Given the description of an element on the screen output the (x, y) to click on. 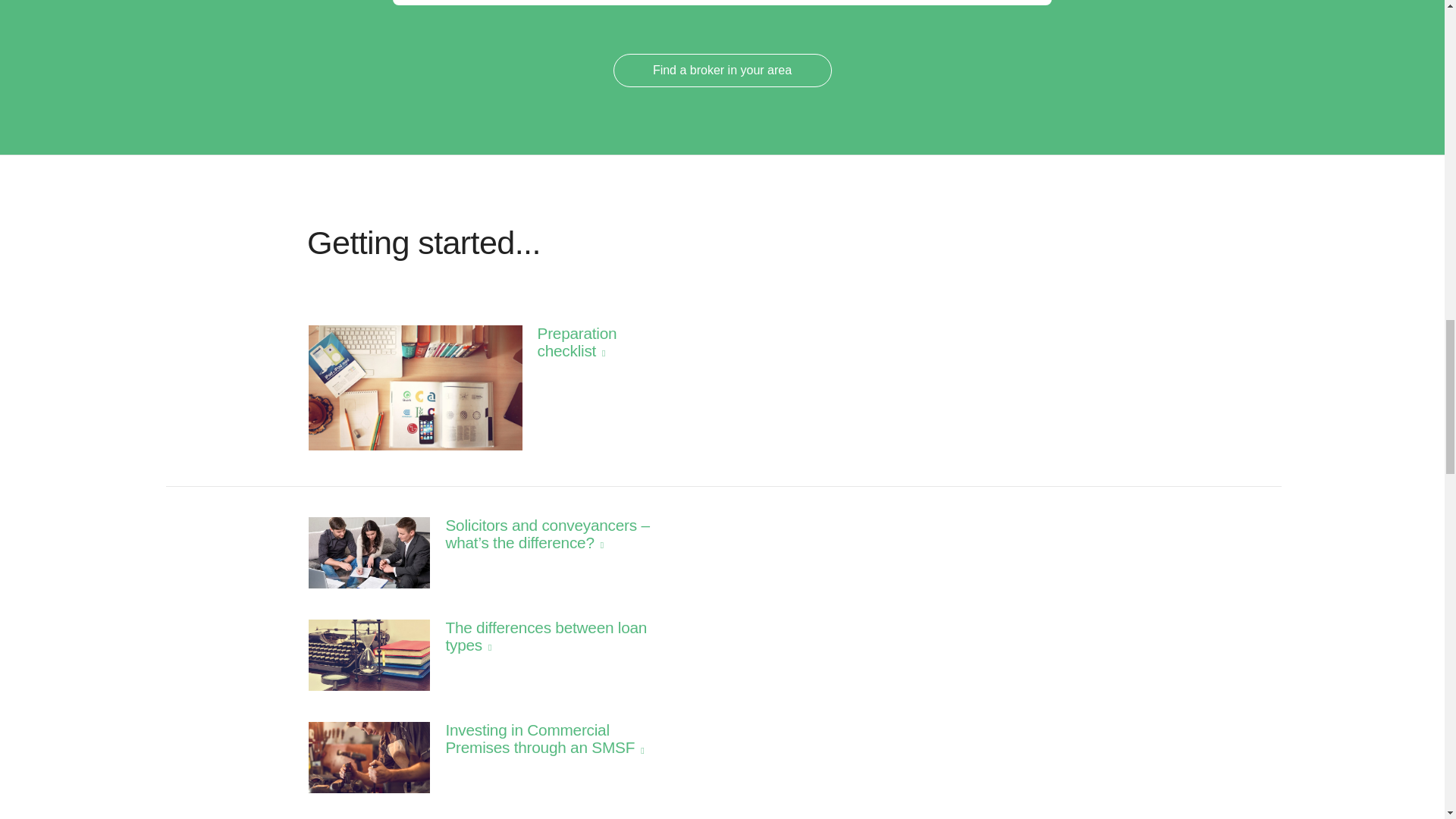
Find a broker in your area (721, 70)
Investing in Commercial Premises through an SMSF (510, 738)
The differences between loan types (510, 636)
Preparation checklist (510, 342)
